Given the description of an element on the screen output the (x, y) to click on. 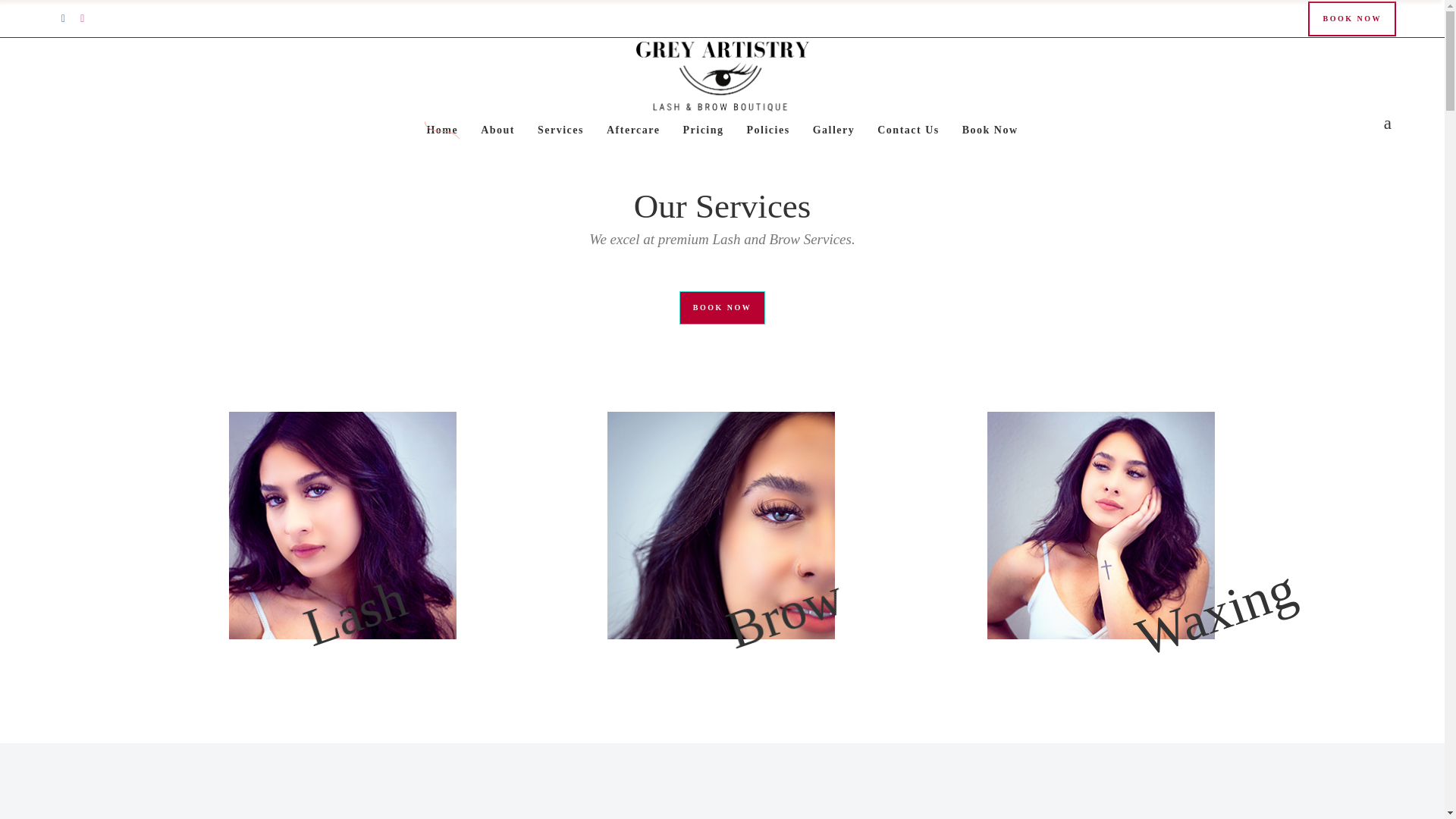
Pricing (703, 129)
Contact Us (908, 129)
Home (441, 129)
About (496, 129)
Aftercare (633, 129)
Book Now (989, 129)
Services (560, 129)
BOOK NOW (1351, 18)
Policies (768, 129)
Gallery (834, 129)
